Given the description of an element on the screen output the (x, y) to click on. 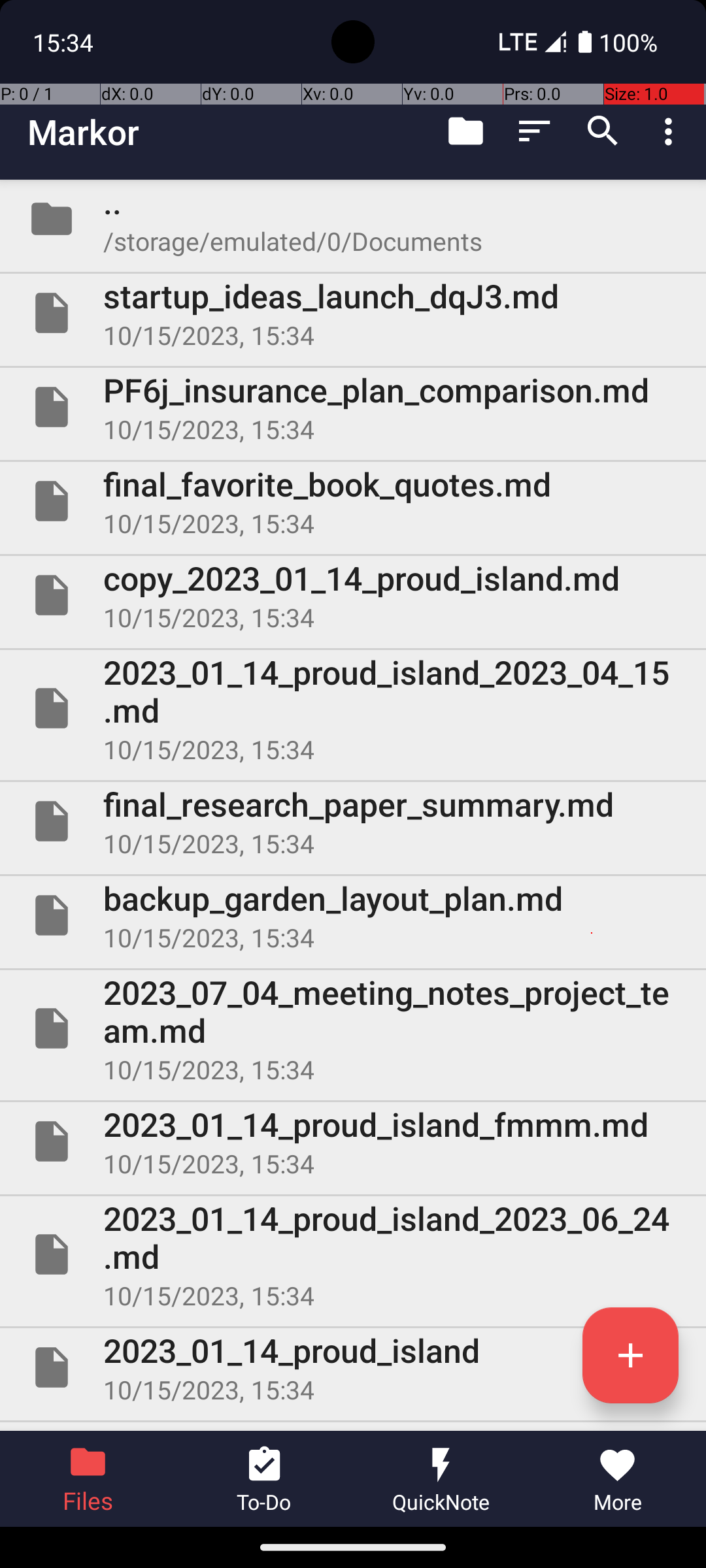
File startup_ideas_launch_dqJ3.md  Element type: android.widget.LinearLayout (353, 312)
File PF6j_insurance_plan_comparison.md  Element type: android.widget.LinearLayout (353, 406)
File final_favorite_book_quotes.md  Element type: android.widget.LinearLayout (353, 500)
File copy_2023_01_14_proud_island.md  Element type: android.widget.LinearLayout (353, 594)
File 2023_01_14_proud_island_2023_04_15.md  Element type: android.widget.LinearLayout (353, 708)
File final_research_paper_summary.md  Element type: android.widget.LinearLayout (353, 821)
File backup_garden_layout_plan.md  Element type: android.widget.LinearLayout (353, 915)
File 2023_07_04_meeting_notes_project_team.md 10/15/2023, 15:34 Element type: android.widget.LinearLayout (353, 1028)
File 2023_01_14_proud_island_fmmm.md 10/15/2023, 15:34 Element type: android.widget.LinearLayout (353, 1141)
File 2023_01_14_proud_island_2023_06_24.md  Element type: android.widget.LinearLayout (353, 1254)
File 2023_01_14_proud_island  Element type: android.widget.LinearLayout (353, 1367)
